Given the description of an element on the screen output the (x, y) to click on. 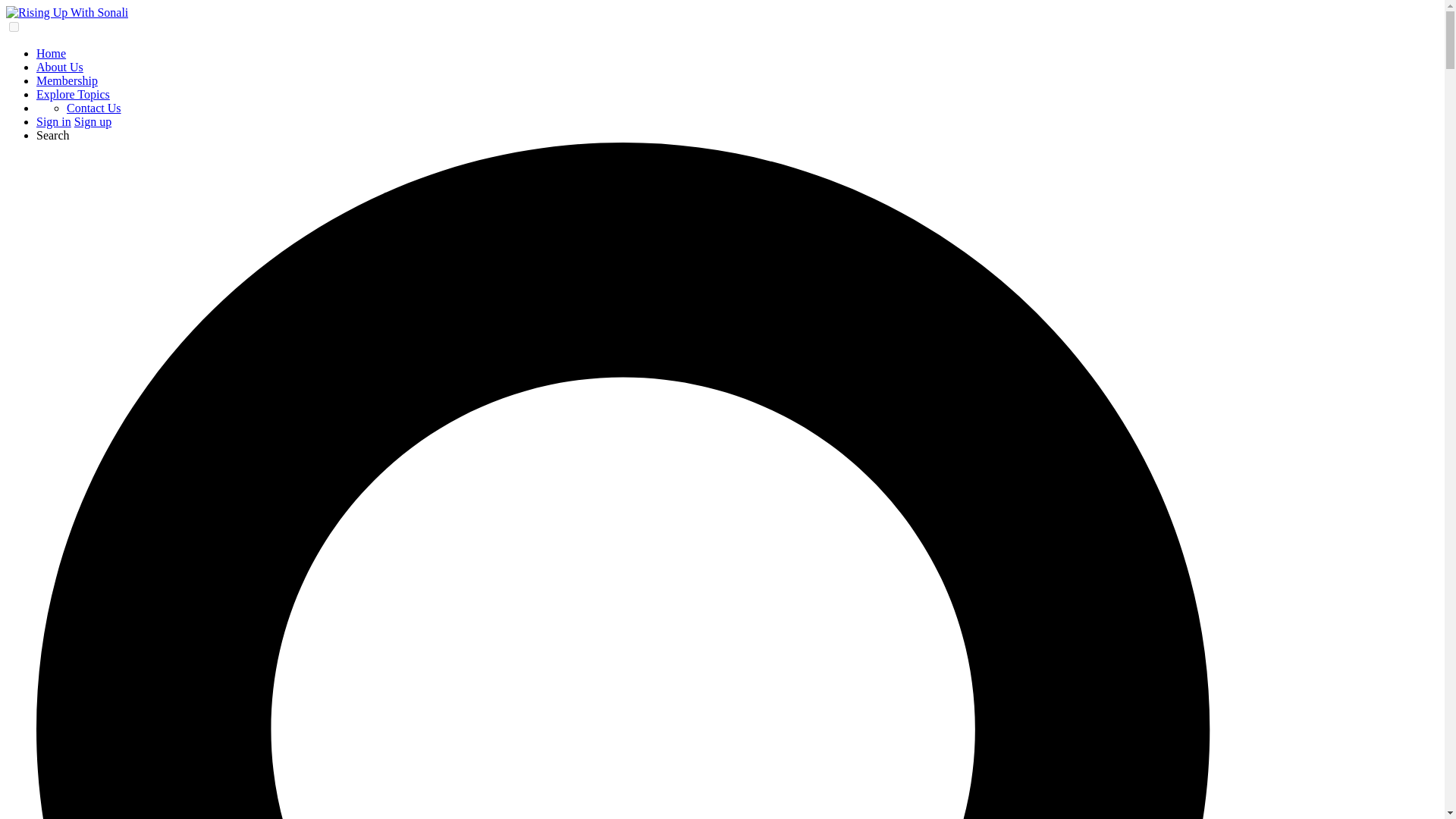
Sign in (53, 121)
Sign up (93, 121)
Contact Us (93, 107)
About Us (59, 66)
on (13, 26)
Explore Topics (73, 93)
Home (50, 52)
Membership (66, 80)
